Given the description of an element on the screen output the (x, y) to click on. 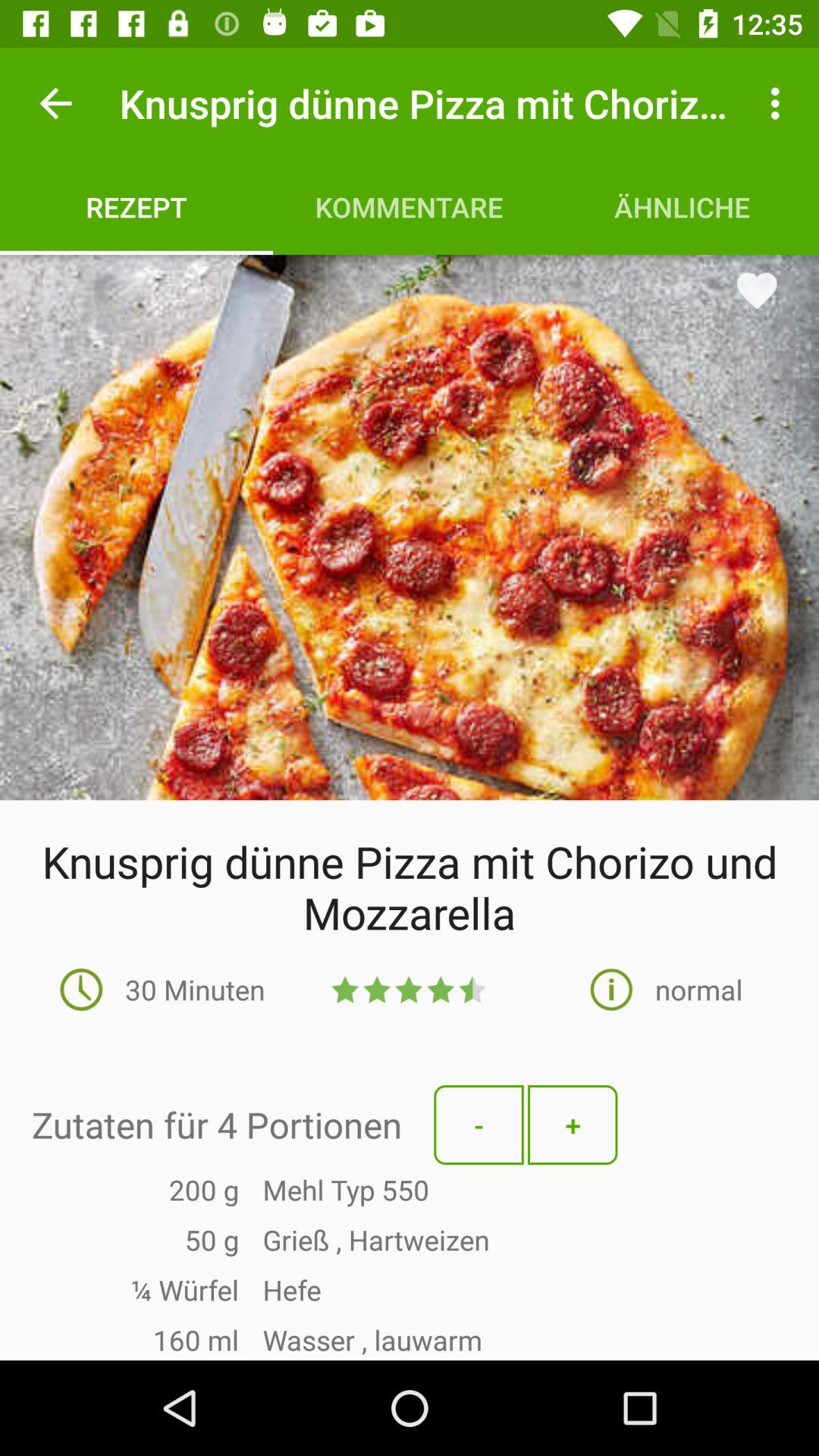
click on the plus button (572, 1124)
click on top right corner icon (779, 103)
